Given the description of an element on the screen output the (x, y) to click on. 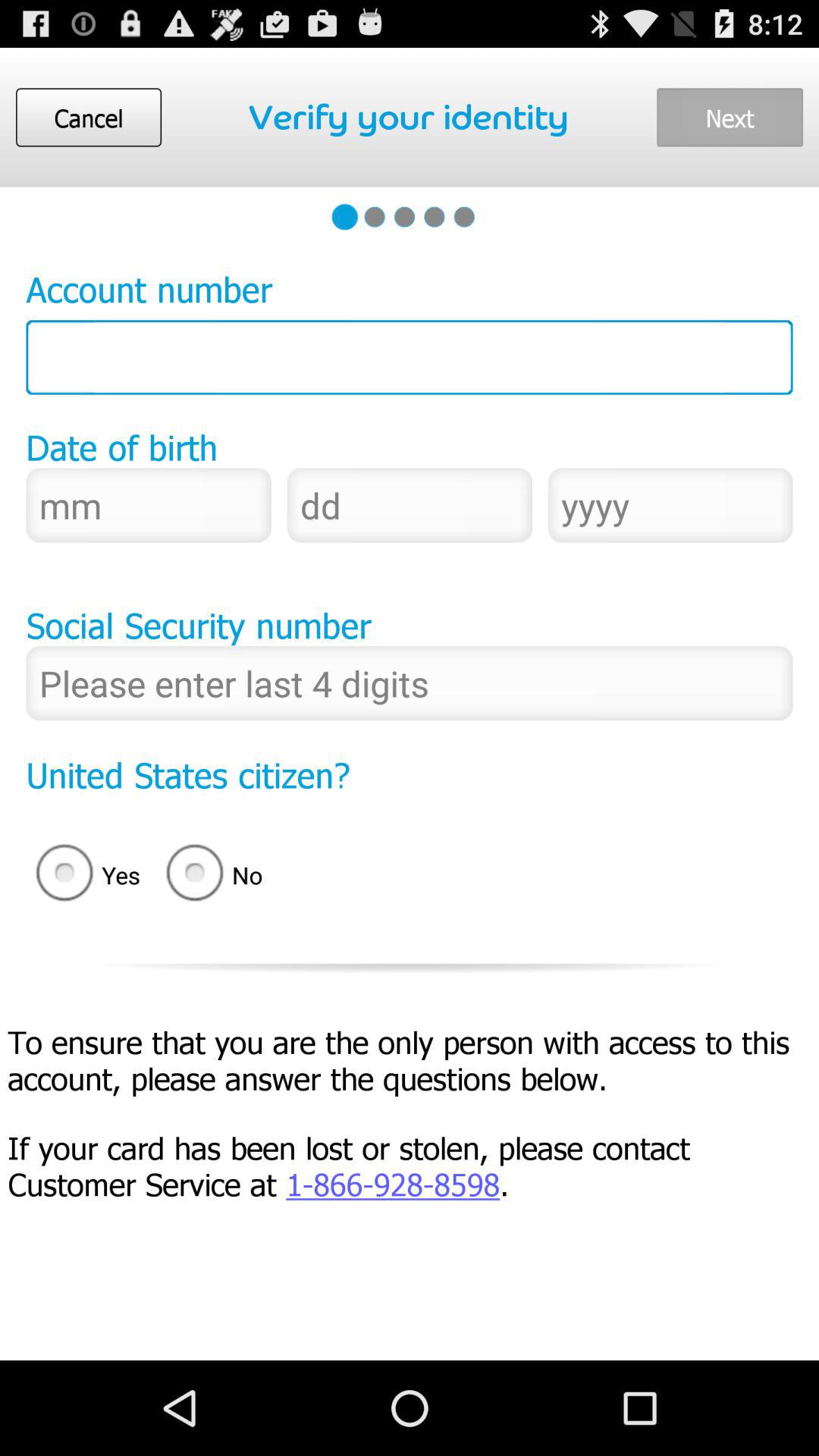
scroll until yes item (83, 875)
